Given the description of an element on the screen output the (x, y) to click on. 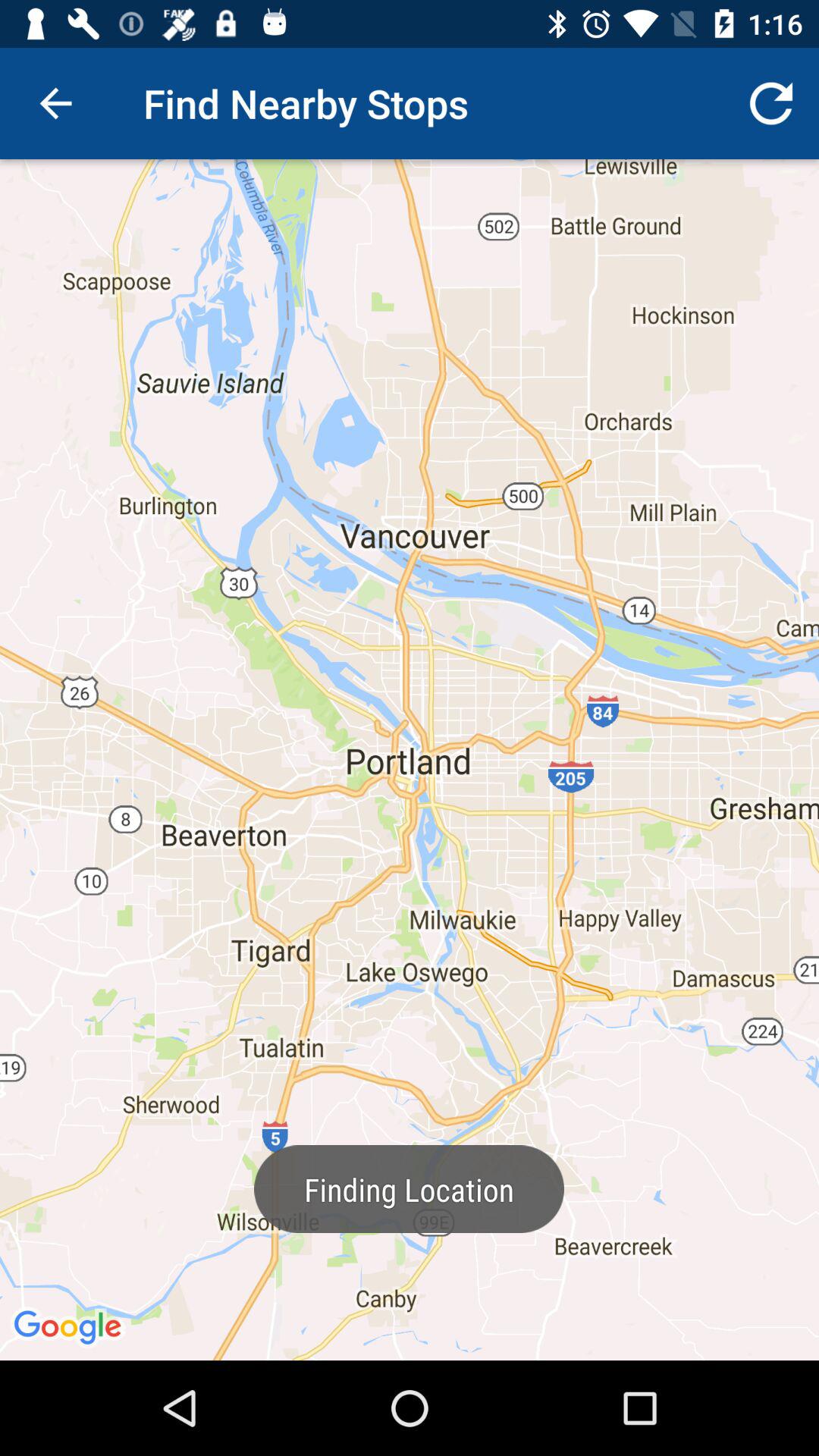
choose item to the right of find nearby stops item (771, 103)
